Given the description of an element on the screen output the (x, y) to click on. 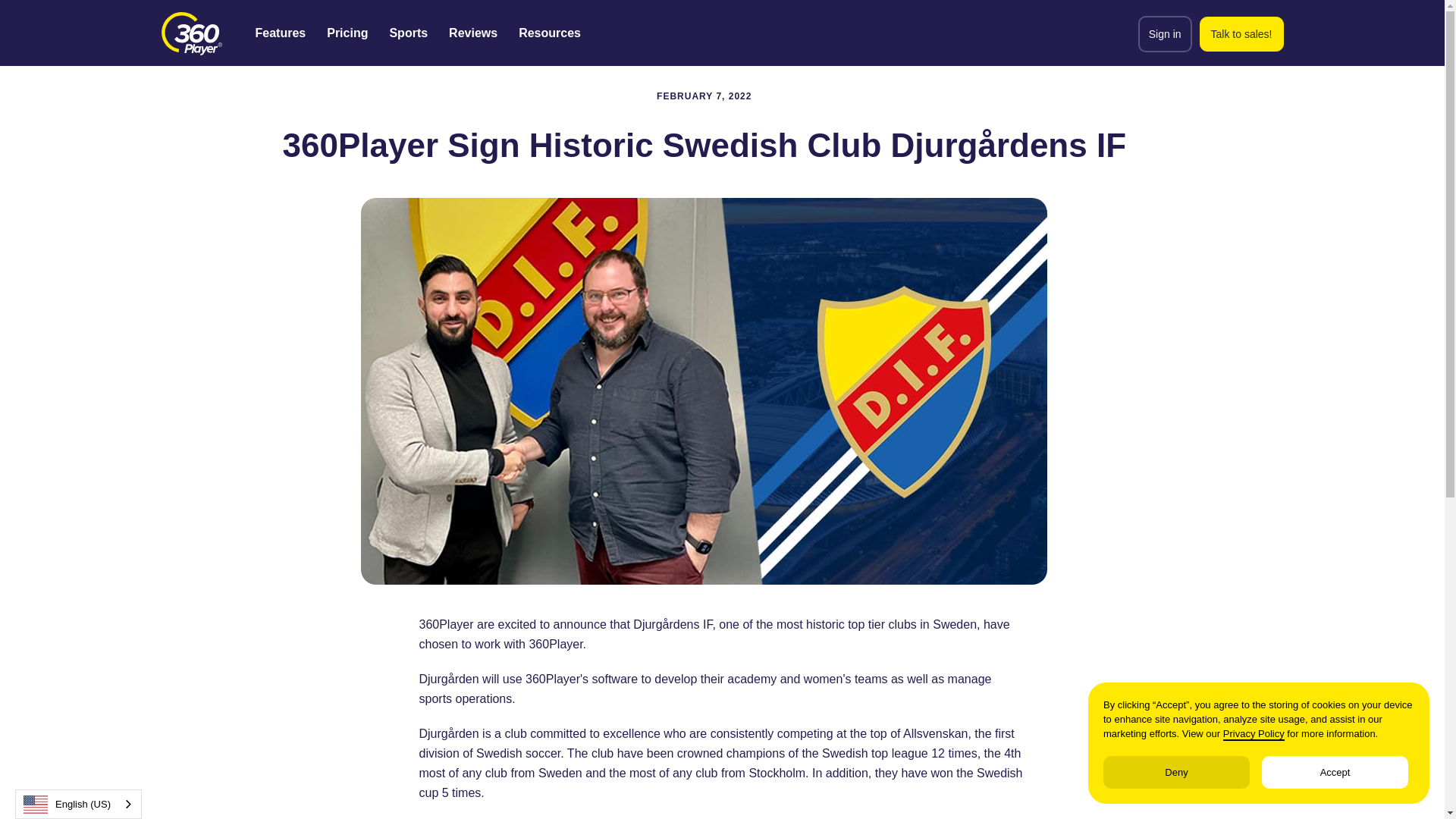
Reviews (473, 33)
Deny (1176, 771)
Pricing (346, 33)
Privacy Policy (1253, 734)
Sign in (1165, 33)
Talk to sales! (1241, 33)
Accept (1334, 771)
